Given the description of an element on the screen output the (x, y) to click on. 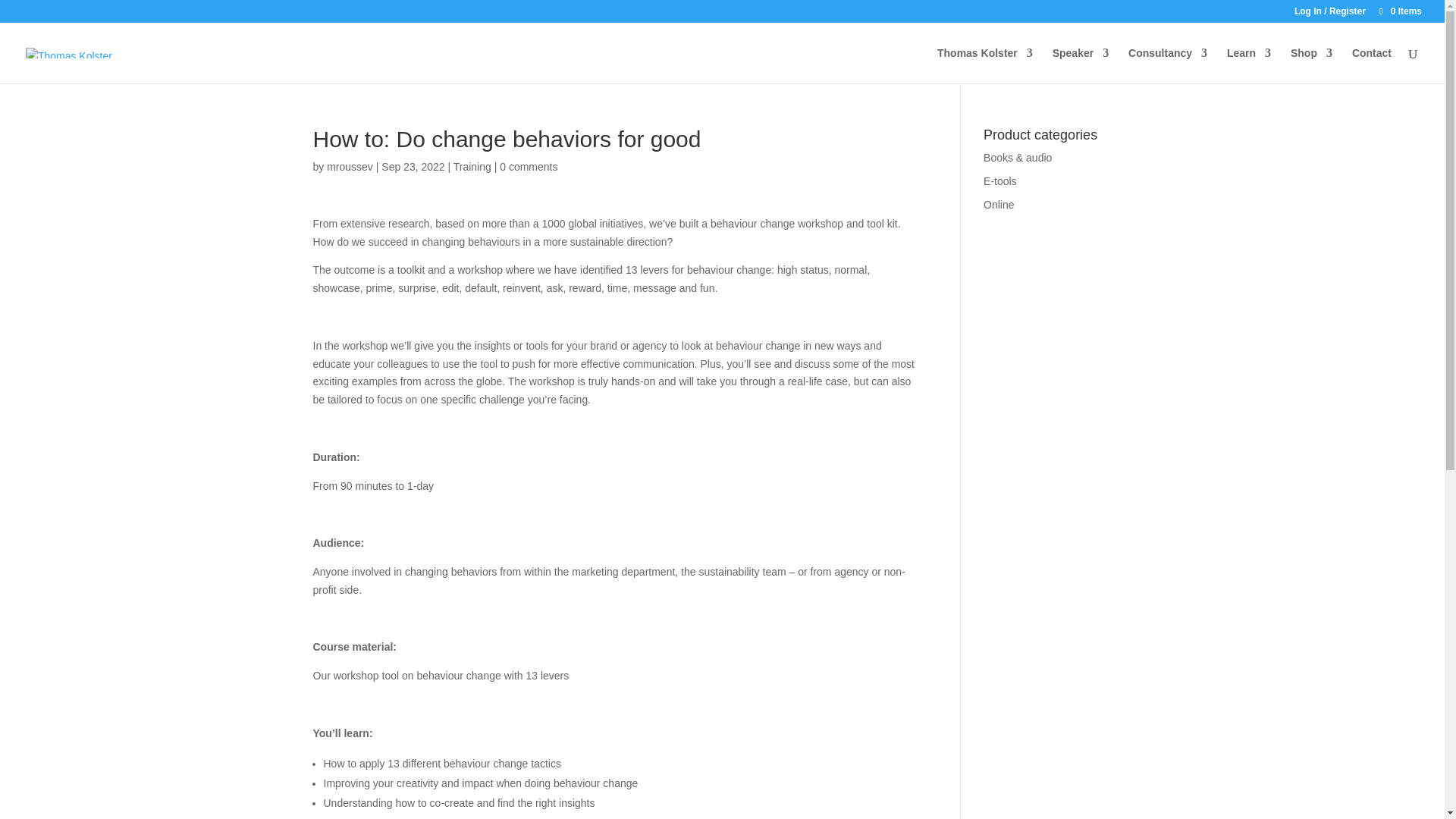
Learn (1249, 65)
Online (998, 204)
Training (472, 166)
0 Items (1399, 10)
Thomas Kolster (984, 65)
Consultancy (1167, 65)
0 comments (528, 166)
E-tools (1000, 181)
Posts by mroussev (349, 166)
Contact (1371, 65)
